Given the description of an element on the screen output the (x, y) to click on. 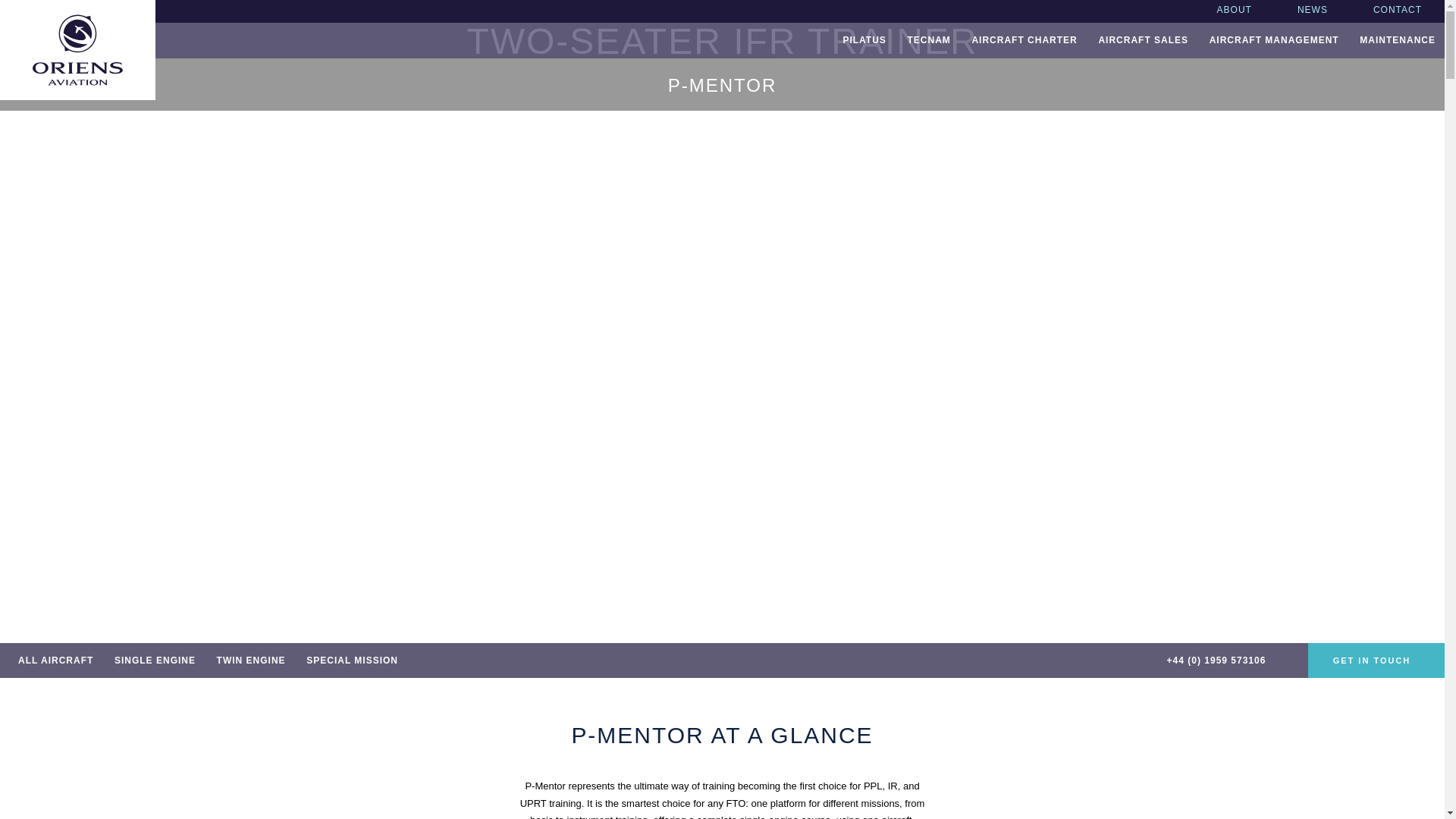
AIRCRAFT CHARTER (1024, 40)
CONTACT (1397, 11)
PILATUS (863, 40)
TECNAM (928, 40)
ABOUT (1234, 11)
NEWS (1313, 11)
AIRCRAFT SALES (1142, 40)
AIRCRAFT MANAGEMENT (1273, 40)
MAINTENANCE (1397, 40)
